Given the description of an element on the screen output the (x, y) to click on. 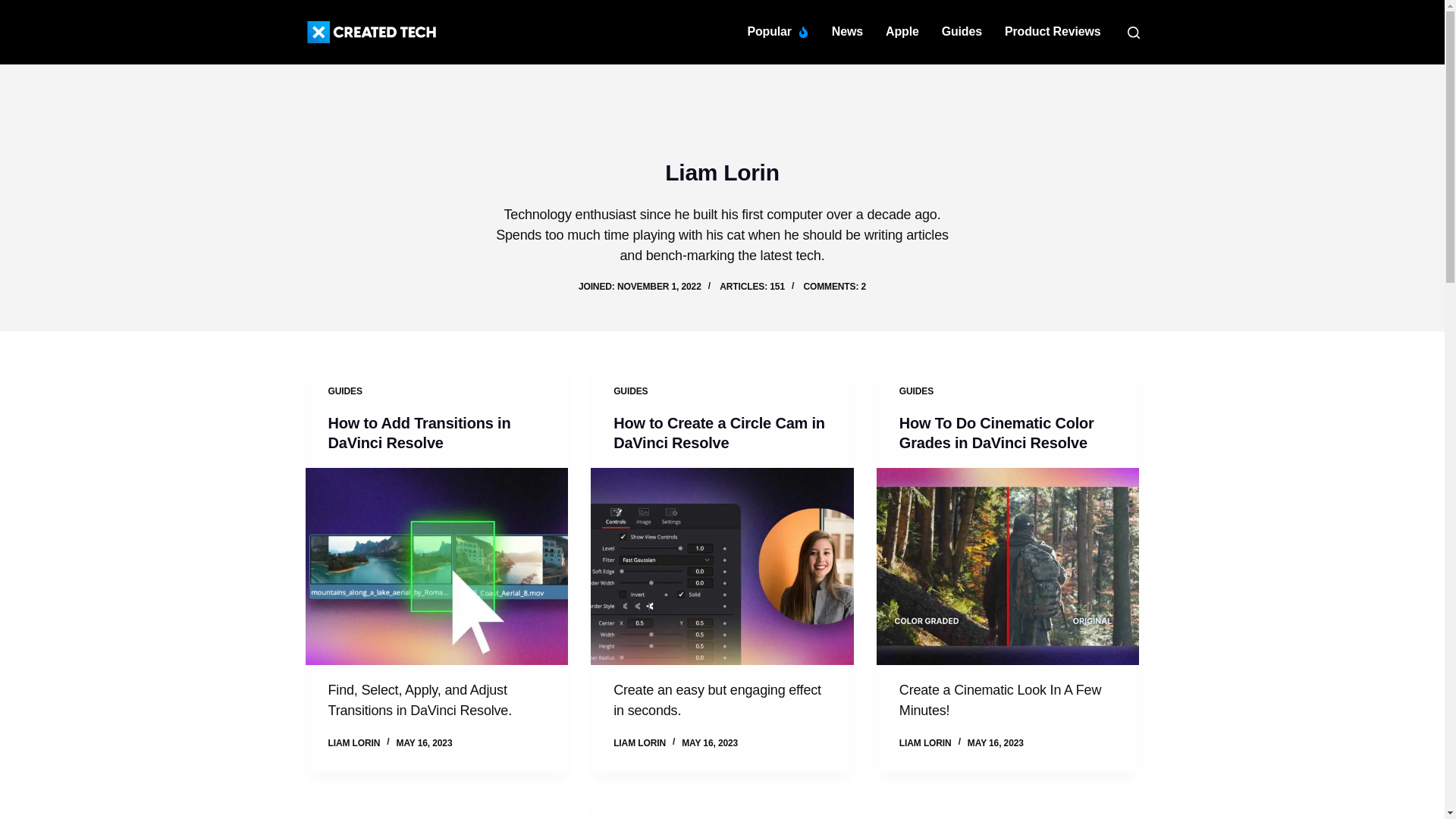
How To Do Cinematic Color Grades in DaVinci Resolve (996, 432)
Product Reviews (1052, 32)
LIAM LORIN (638, 742)
Posts by Liam Lorin (925, 742)
Popular (777, 32)
LIAM LORIN (353, 742)
How to Add Transitions in DaVinci Resolve (419, 432)
GUIDES (629, 390)
LIAM LORIN (925, 742)
Skip to content (15, 7)
